Given the description of an element on the screen output the (x, y) to click on. 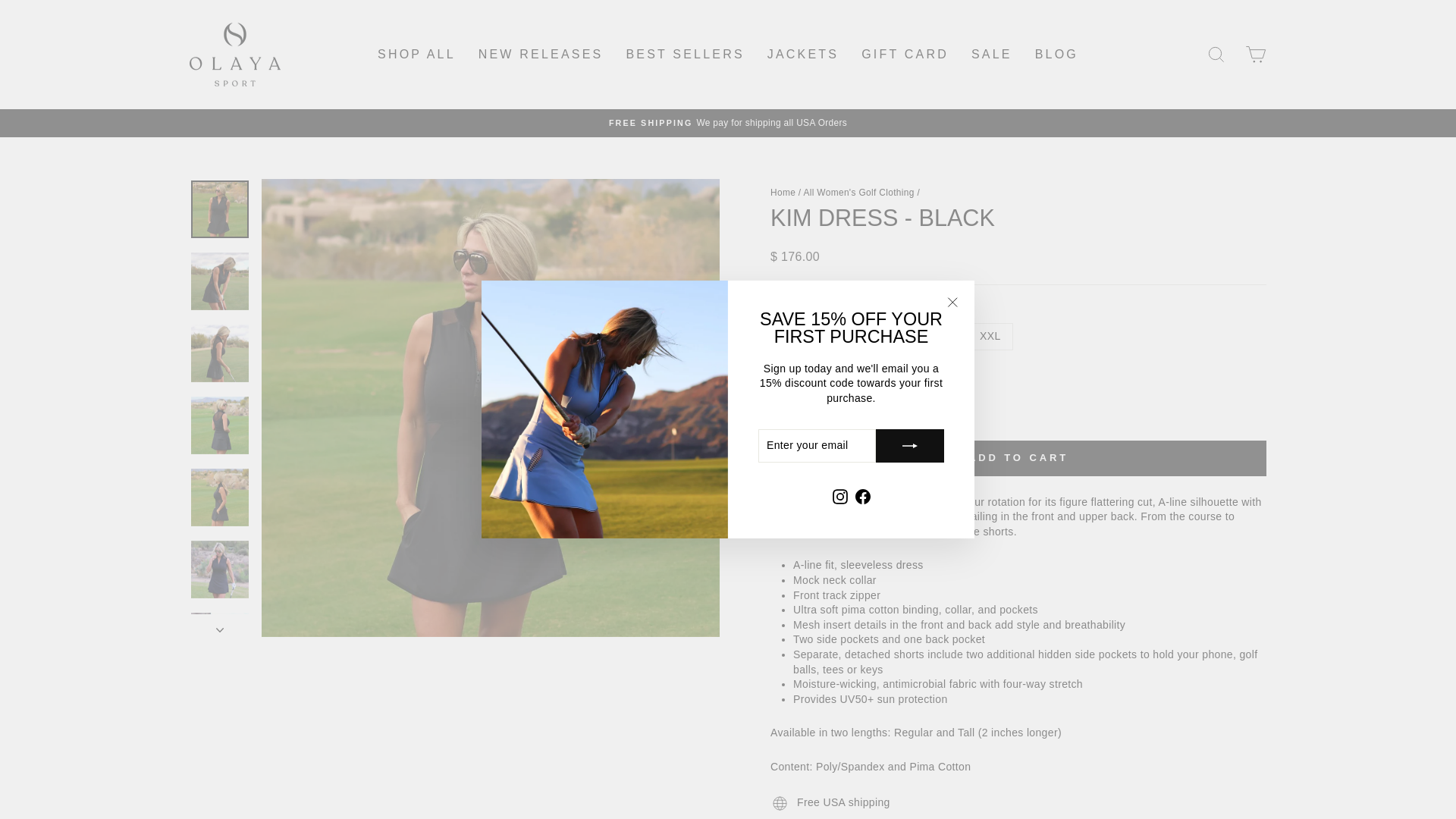
ICON-SEARCH (1216, 54)
Instagram (839, 496)
GIFT CARD (904, 53)
Home (782, 192)
BLOG (1056, 53)
NEW RELEASES (540, 53)
SHOP ALL (416, 53)
Olaya Sport on Instagram (839, 496)
CART (1255, 54)
Olaya Sport on Facebook (861, 496)
Facebook (861, 496)
